Given the description of an element on the screen output the (x, y) to click on. 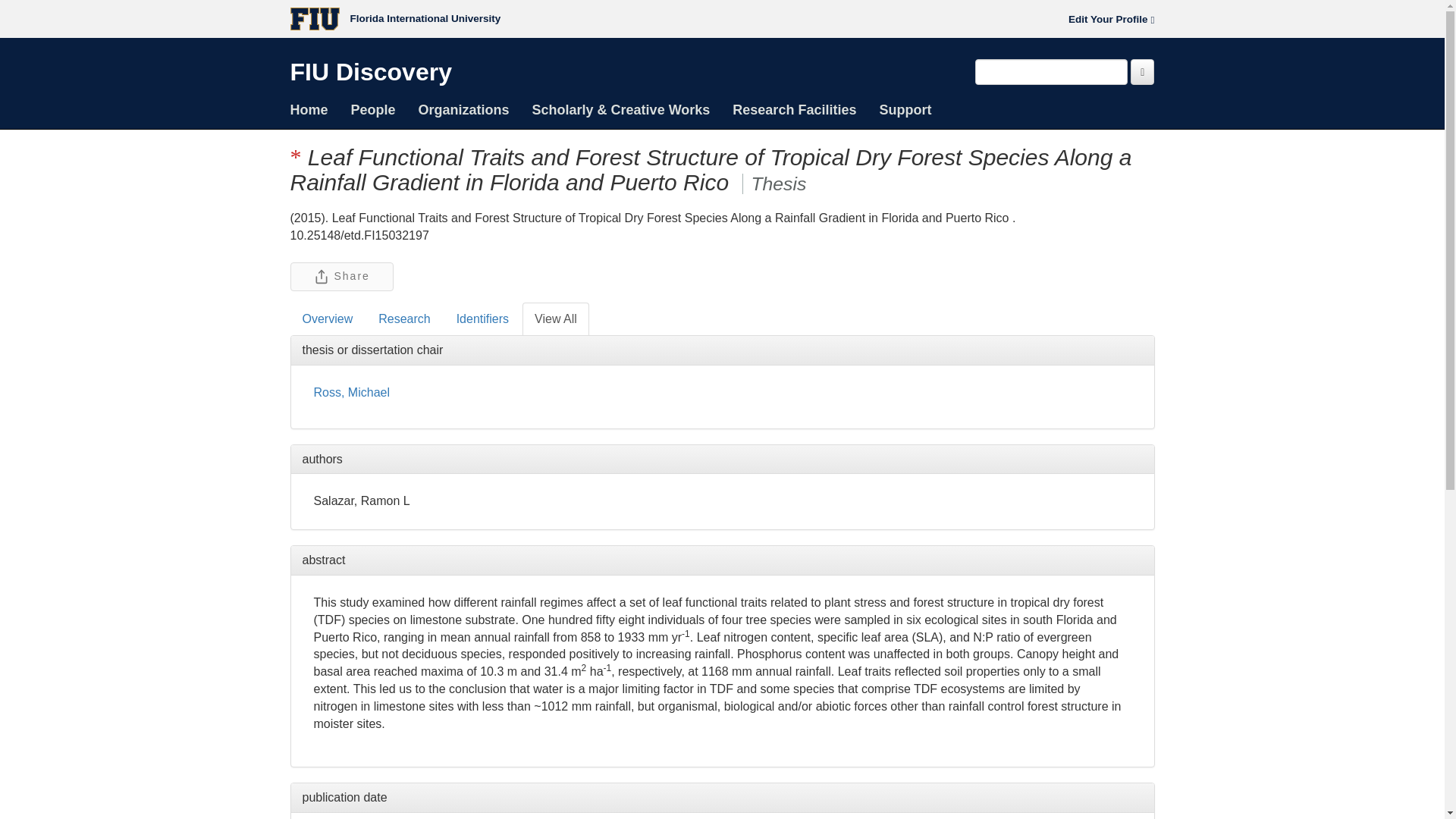
Edit Your Profile (1111, 19)
People (373, 109)
Ross, Michael (352, 391)
Identifiers (482, 319)
Overview (327, 319)
FIU Discovery (370, 75)
Share this article (341, 276)
People menu item (373, 109)
Research (404, 319)
editor name (352, 391)
Research Facilities menu item (793, 109)
Florida International University (394, 18)
Organizations (464, 109)
View All (555, 319)
Support (904, 109)
